Given the description of an element on the screen output the (x, y) to click on. 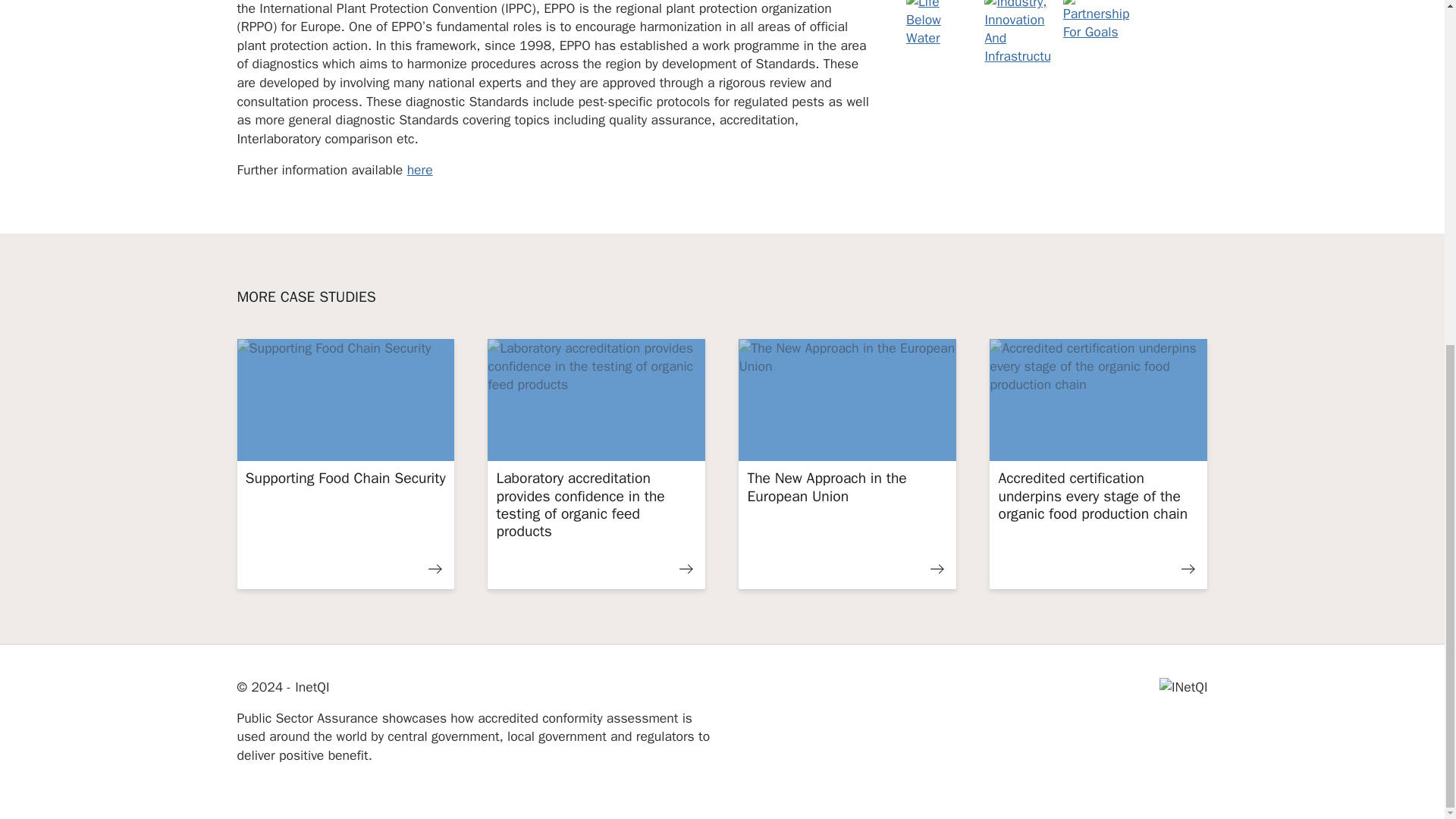
here (419, 169)
